Given the description of an element on the screen output the (x, y) to click on. 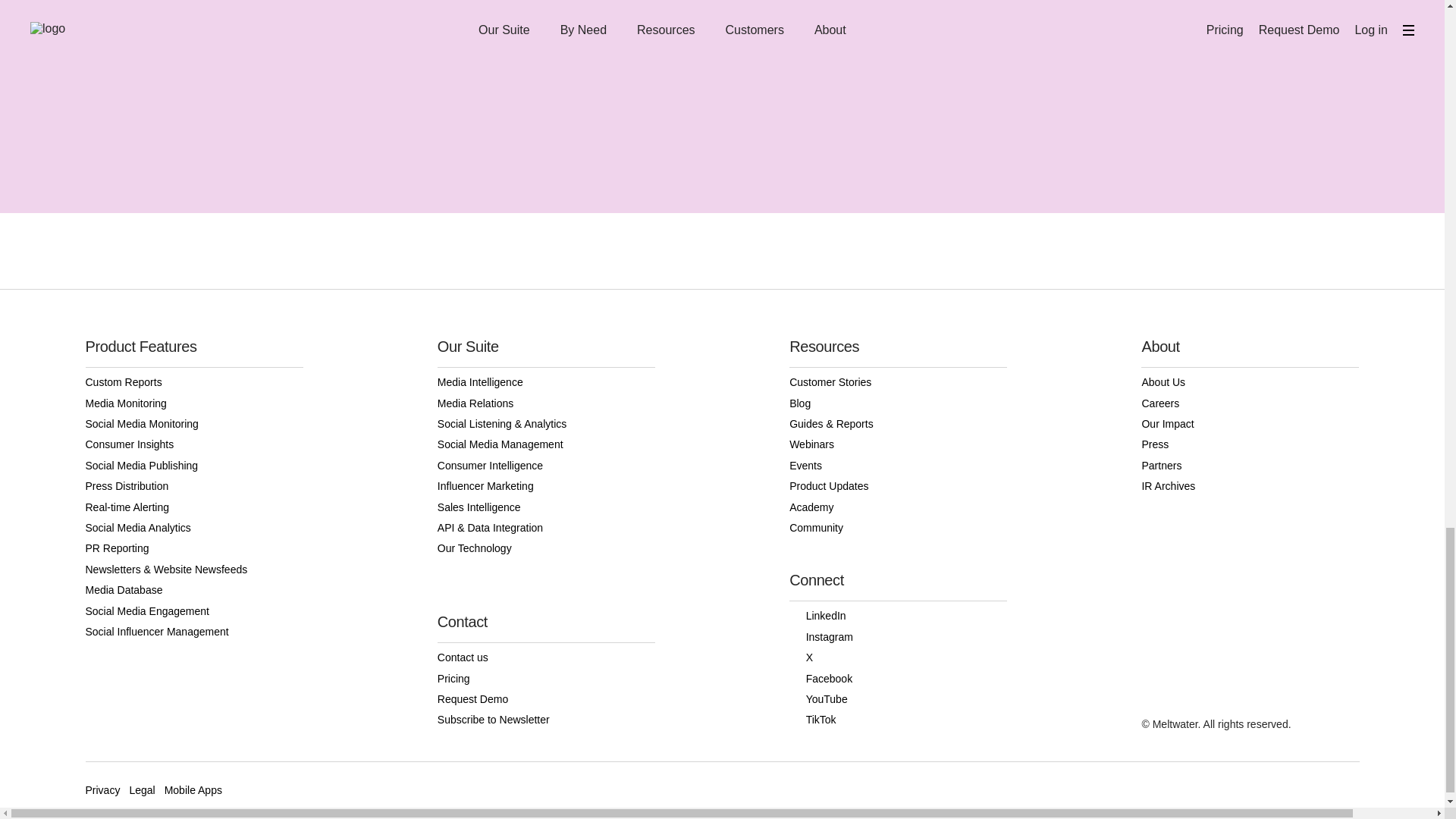
Our Technology (546, 548)
Sales Intelligence (546, 507)
Media Monitoring (193, 403)
Influencer Marketing (546, 485)
Media Database (193, 589)
PR Reporting (193, 548)
Consumer Insights (193, 444)
Real-time Alerting (193, 507)
Social Media Management (546, 444)
Social Media Engagement (193, 611)
